Given the description of an element on the screen output the (x, y) to click on. 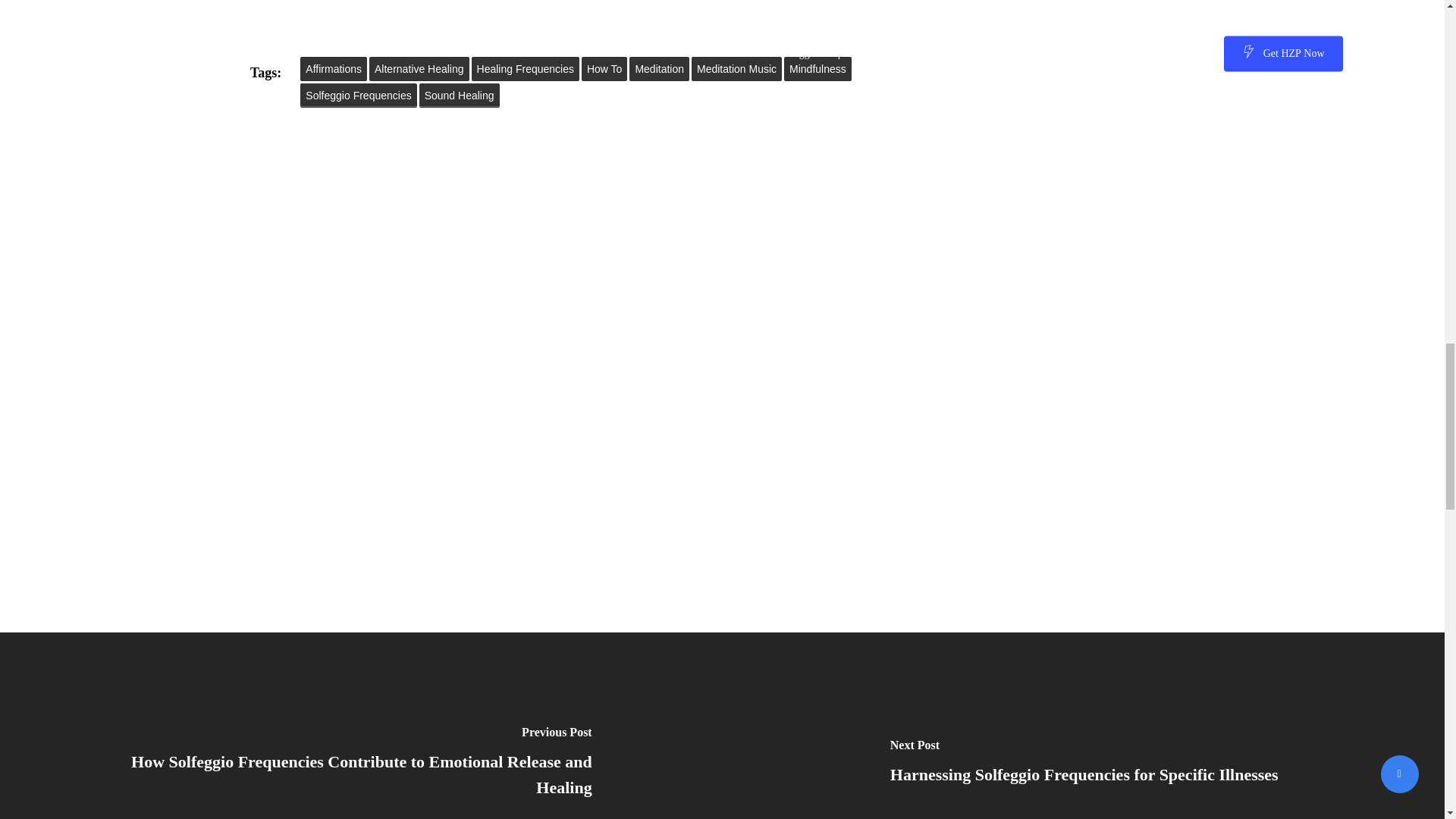
Affirmations (332, 68)
How To (603, 68)
Healing Frequencies (525, 68)
Alternative Healing (418, 68)
